Given the description of an element on the screen output the (x, y) to click on. 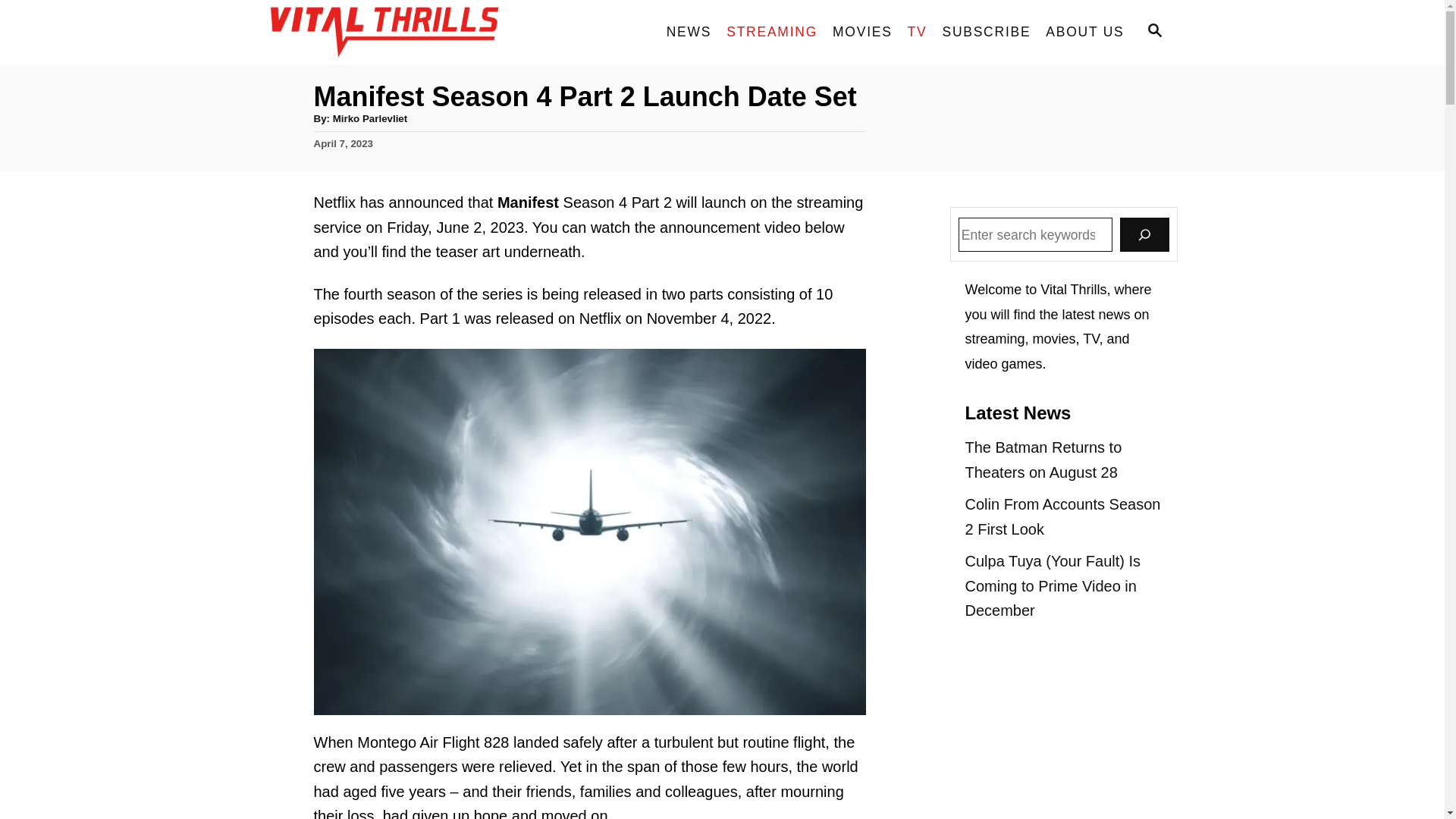
Mirko Parlevliet (370, 118)
SUBSCRIBE (986, 32)
SEARCH (1153, 31)
TV (916, 32)
STREAMING (772, 32)
NEWS (689, 32)
MOVIES (862, 32)
ABOUT US (1084, 32)
The Batman Returns to Theaters on August 28 (1062, 459)
Colin From Accounts Season 2 First Look (1062, 516)
